Given the description of an element on the screen output the (x, y) to click on. 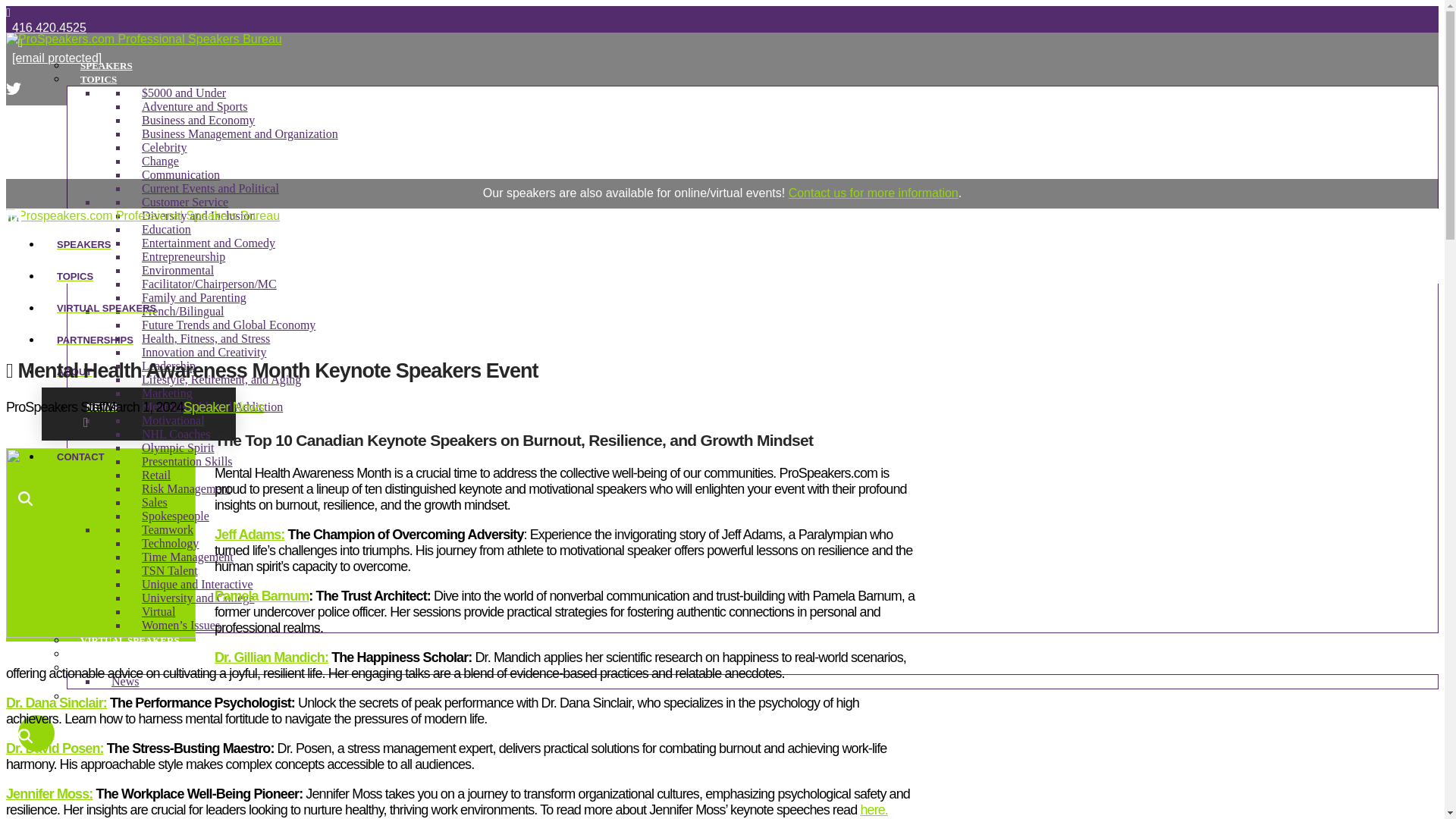
Olympic Spirit (178, 447)
Marketing (167, 393)
Presentation Skills (187, 461)
TOPICS (98, 79)
Mental Health and Addiction (212, 407)
Leadership (168, 366)
416.420.4525 (48, 27)
Business Management and Organization (240, 133)
Health, Fitness, and Stress (205, 338)
Celebrity (164, 147)
